Given the description of an element on the screen output the (x, y) to click on. 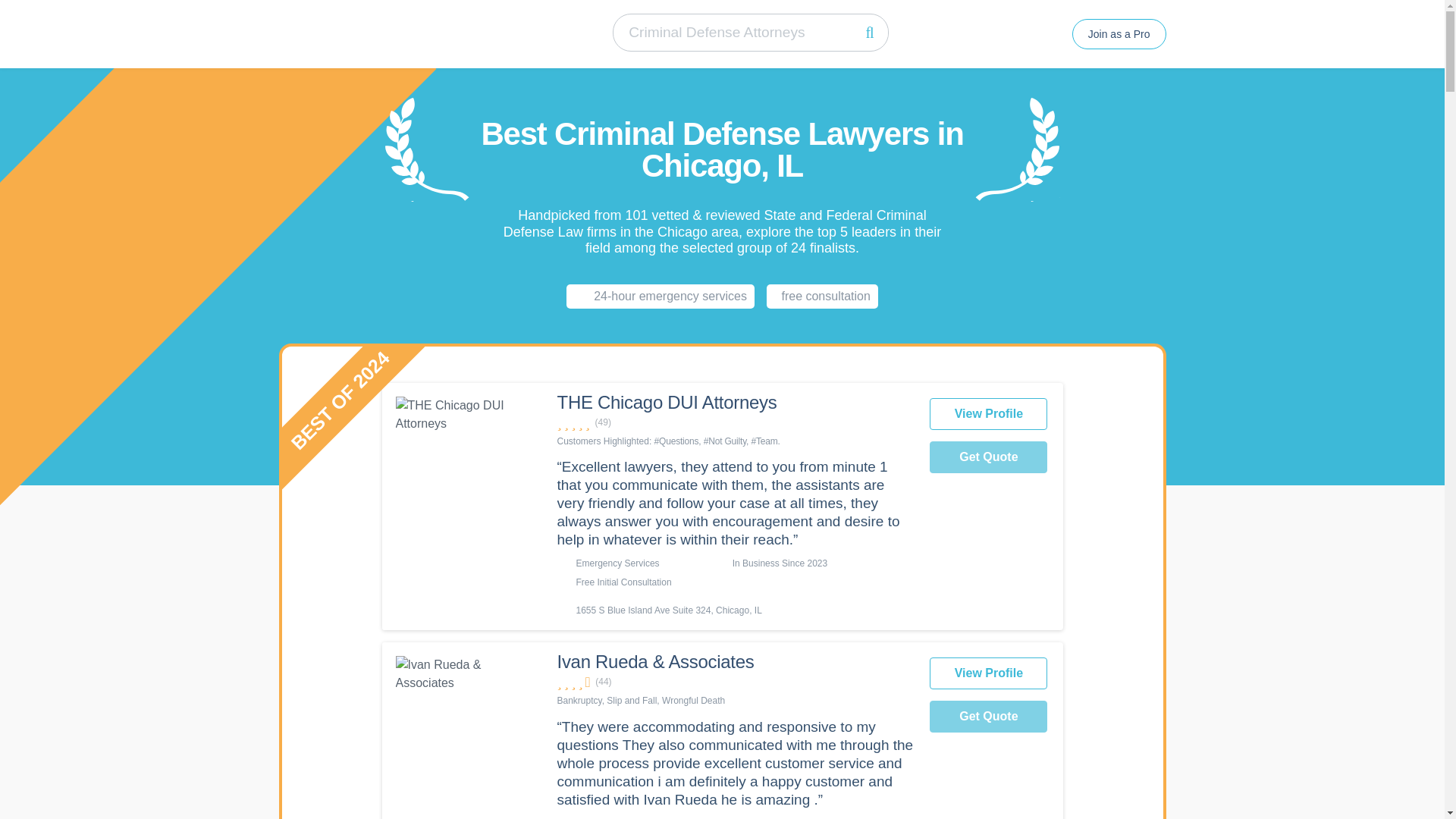
24-hour emergency services (660, 296)
free consultation (822, 296)
4.9 (736, 422)
Get Quote (988, 457)
4.5 (736, 681)
Search (868, 32)
Search (868, 32)
Join as a Pro (1118, 33)
Search (868, 32)
Get Quote (988, 716)
